Given the description of an element on the screen output the (x, y) to click on. 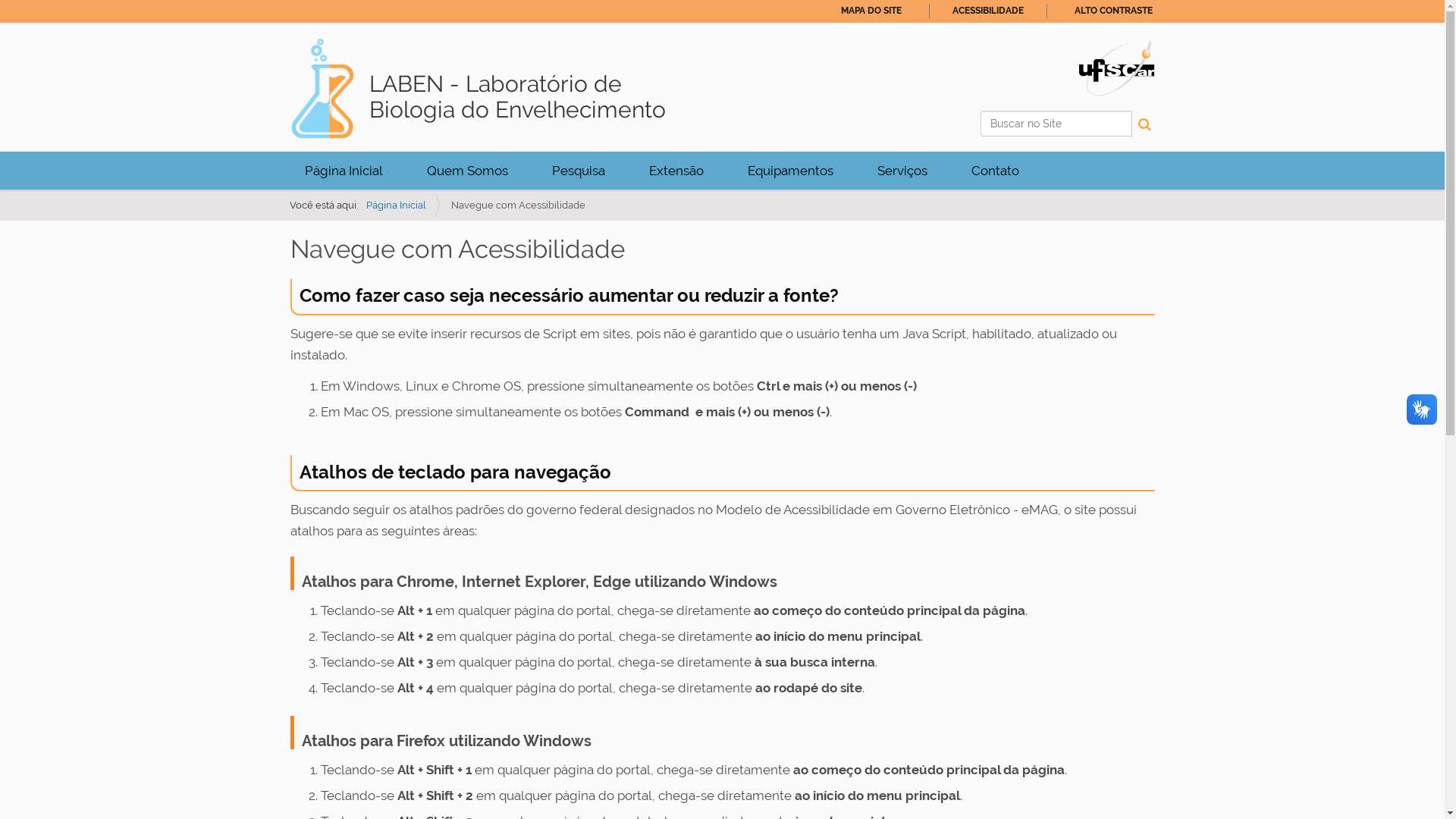
Pesquisa Element type: text (577, 170)
Contato Element type: text (995, 170)
Quem Somos Element type: text (467, 170)
Portal UFSCar Element type: hover (1116, 66)
ACESSIBILIDADE Element type: text (987, 10)
Buscar no Site Element type: hover (1055, 123)
ALTO CONTRASTE Element type: text (1112, 10)
Equipamentos Element type: text (789, 170)
MAPA DO SITE Element type: text (870, 10)
